Given the description of an element on the screen output the (x, y) to click on. 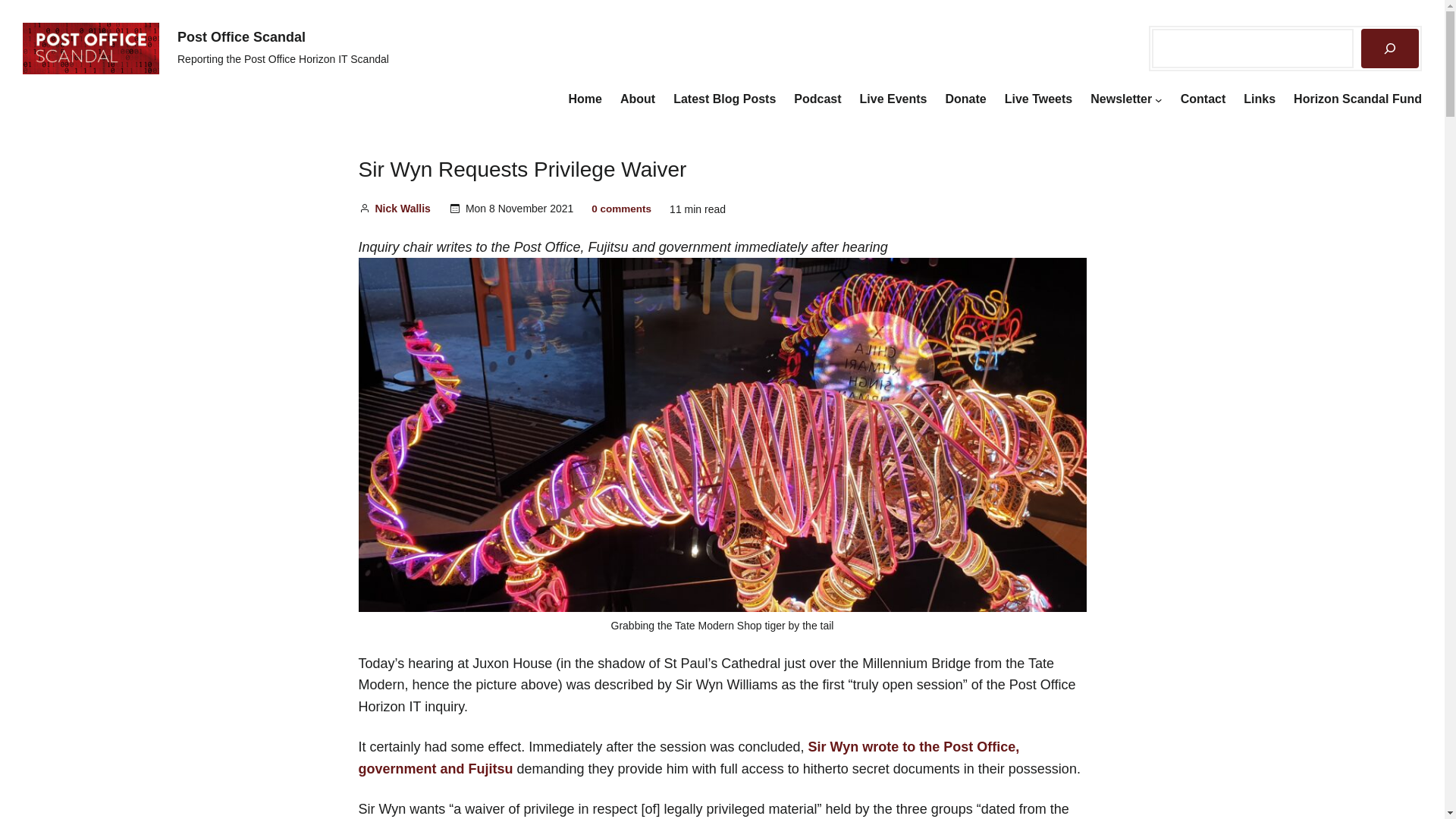
Donate (964, 98)
About (637, 98)
Contact (1202, 98)
Podcast (817, 98)
Newsletter (1120, 98)
Live Events (893, 98)
0 comments (620, 208)
Post Office Scandal (241, 37)
Latest Blog Posts (724, 98)
Home (585, 98)
Nick Wallis (401, 208)
Horizon Scandal Fund (1358, 98)
Sir Wyn wrote to the Post Office, government and Fujitsu (688, 757)
Live Tweets (1038, 98)
Links (1259, 98)
